Given the description of an element on the screen output the (x, y) to click on. 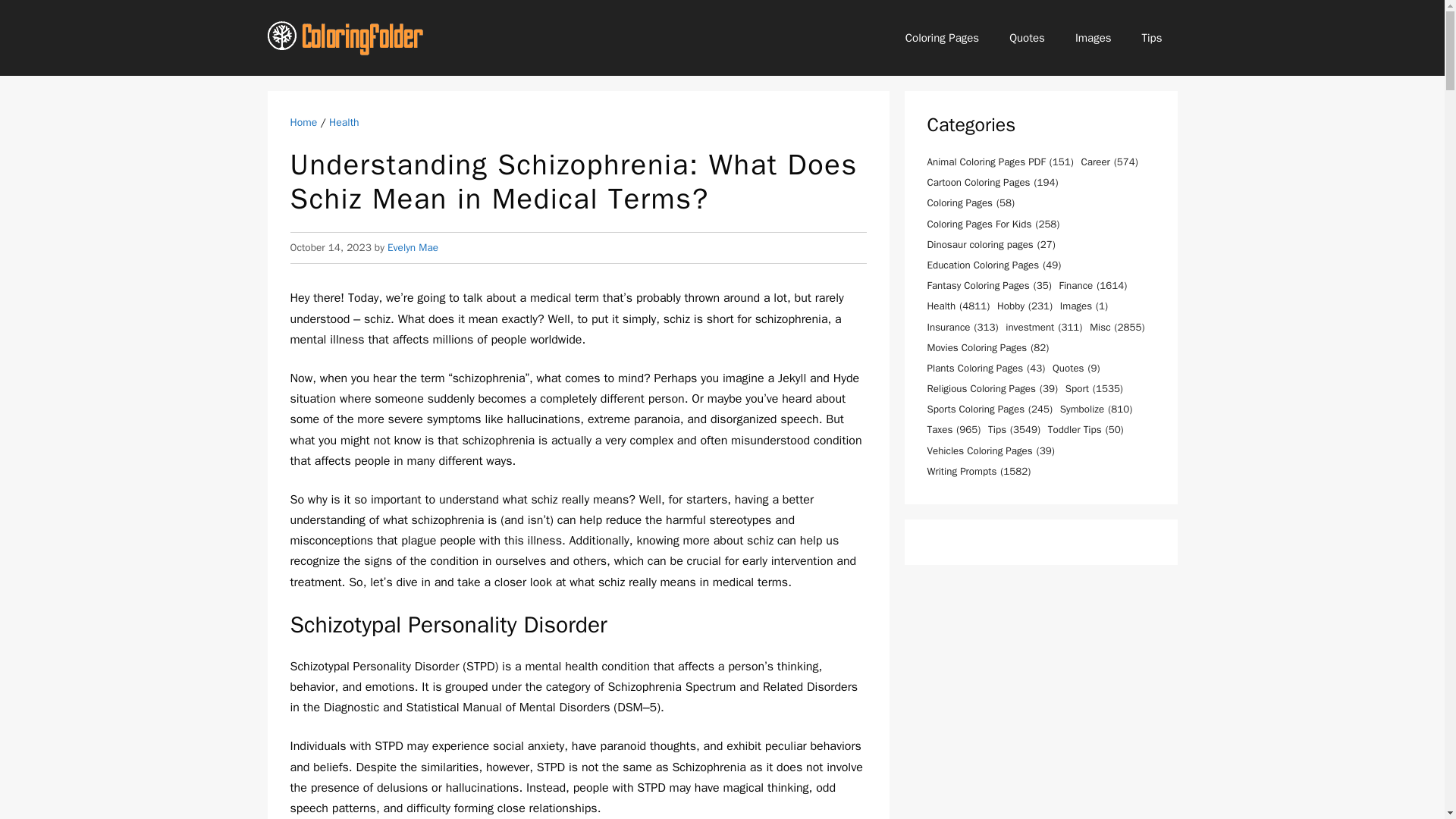
Home (303, 122)
Coloring Pages (941, 37)
Health (344, 122)
Quotes (1026, 37)
Evelyn Mae (412, 246)
Tips (1151, 37)
View all posts by Evelyn Mae (412, 246)
Images (1092, 37)
